Given the description of an element on the screen output the (x, y) to click on. 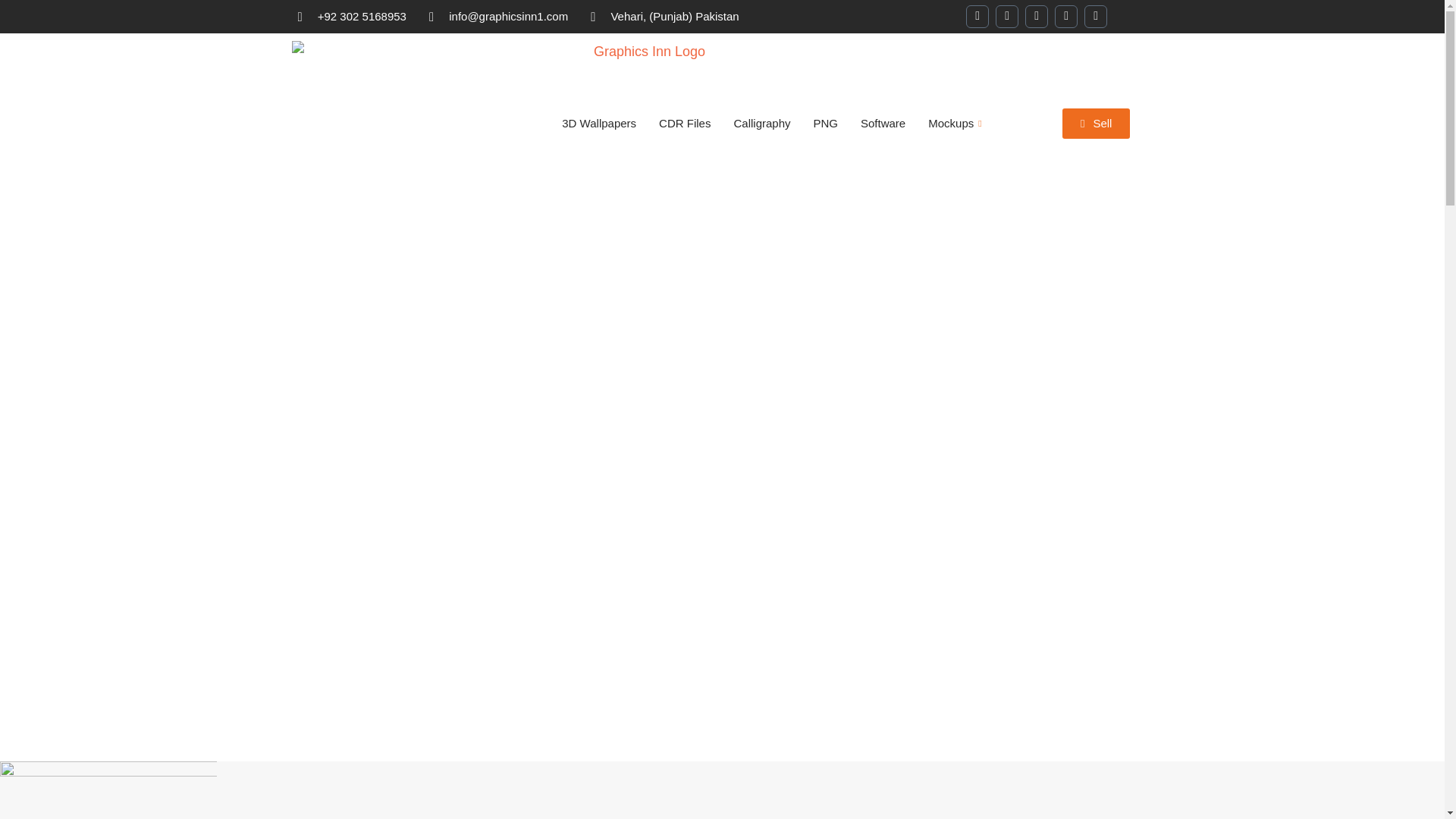
CDR Files (684, 122)
3D Wallpapers (598, 122)
PNG (826, 122)
Software (882, 122)
Calligraphy (762, 122)
Mockups (956, 122)
Sell (1096, 122)
